Given the description of an element on the screen output the (x, y) to click on. 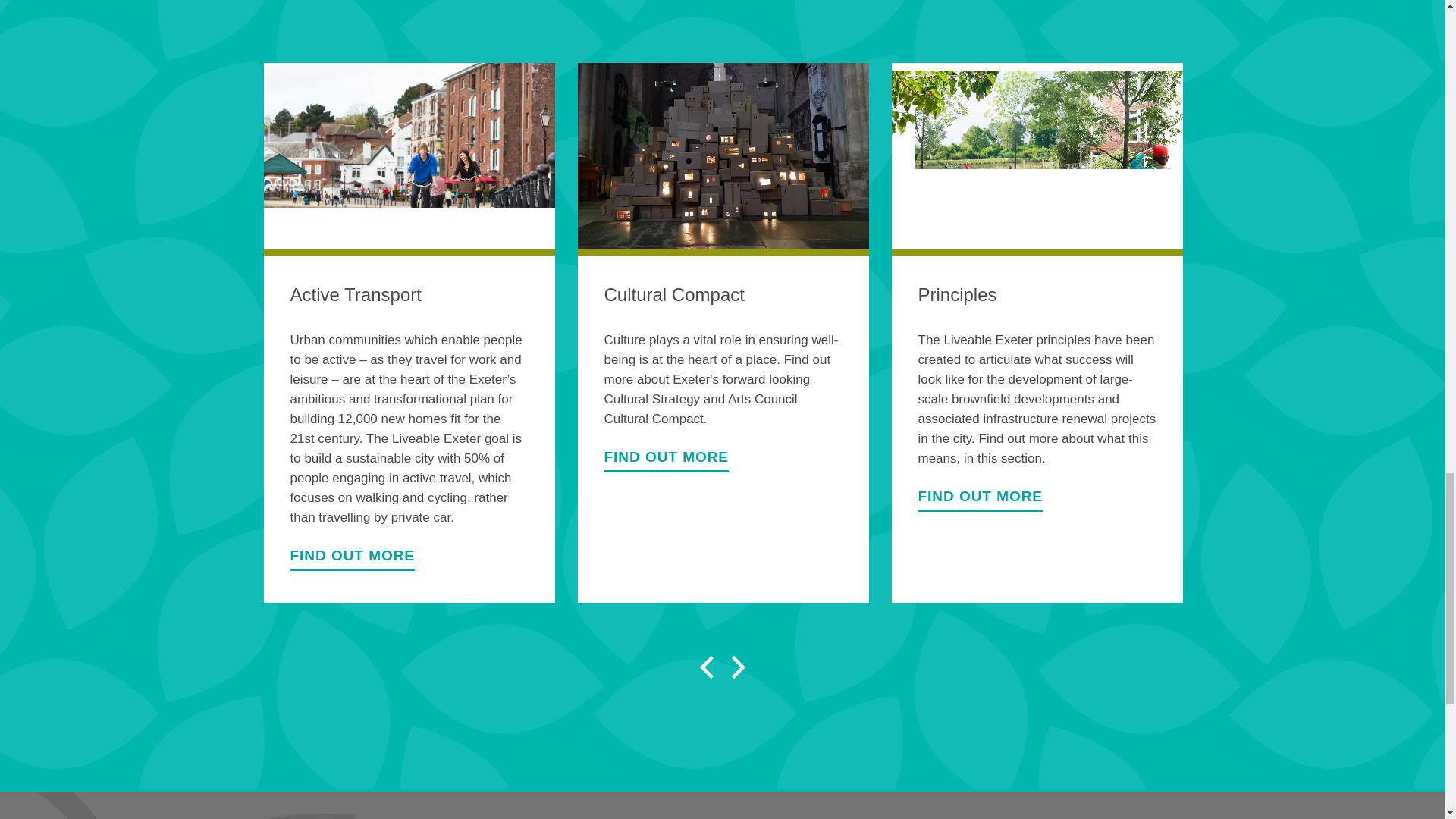
FIND OUT MORE (979, 501)
FIND OUT MORE (666, 462)
FIND OUT MORE (351, 560)
